Given the description of an element on the screen output the (x, y) to click on. 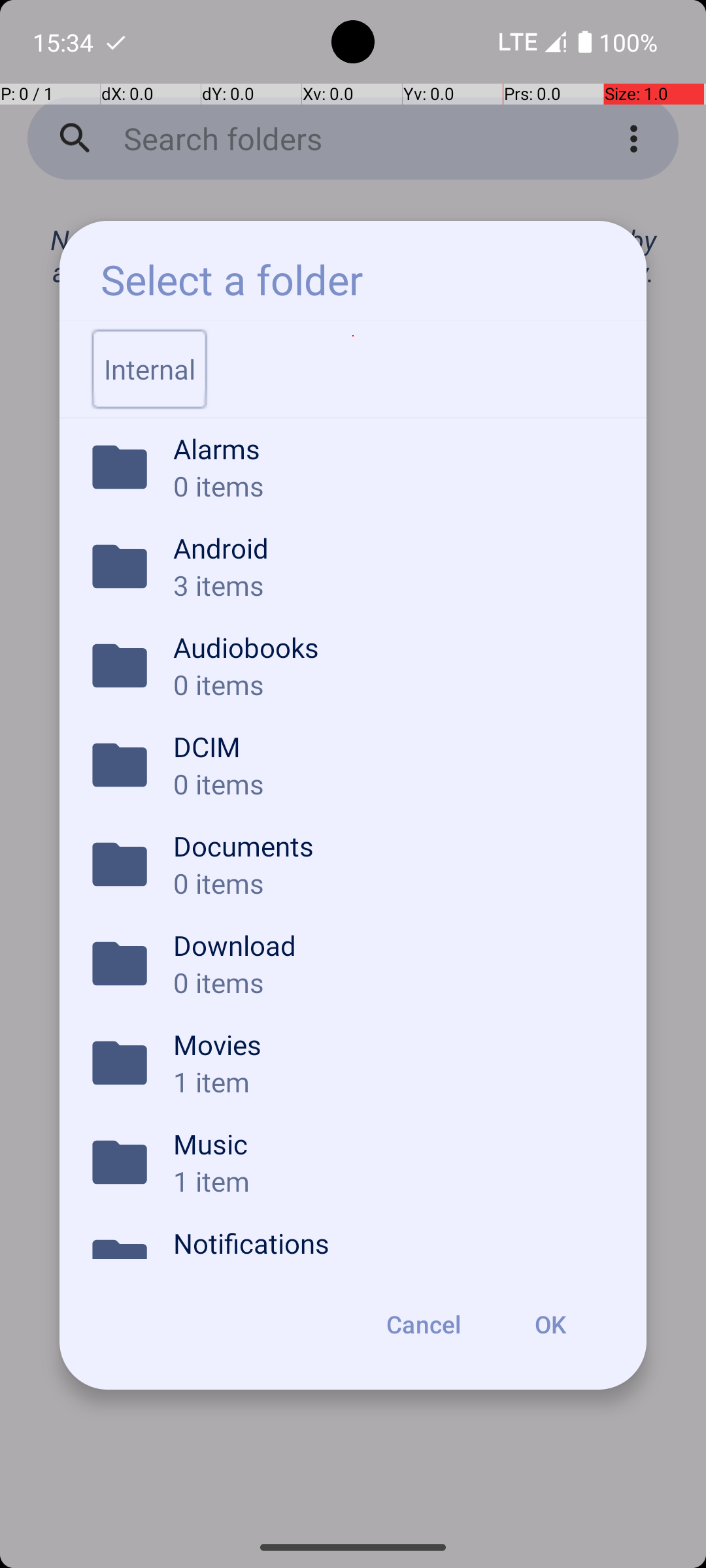
Select a folder Element type: android.widget.TextView (231, 279)
Internal Element type: android.widget.TextView (149, 368)
Alarms Element type: android.widget.TextView (392, 448)
0 items Element type: android.widget.TextView (392, 485)
Android Element type: android.widget.TextView (392, 547)
3 items Element type: android.widget.TextView (392, 584)
Audiobooks Element type: android.widget.TextView (392, 646)
1 item Element type: android.widget.TextView (392, 1081)
